Given the description of an element on the screen output the (x, y) to click on. 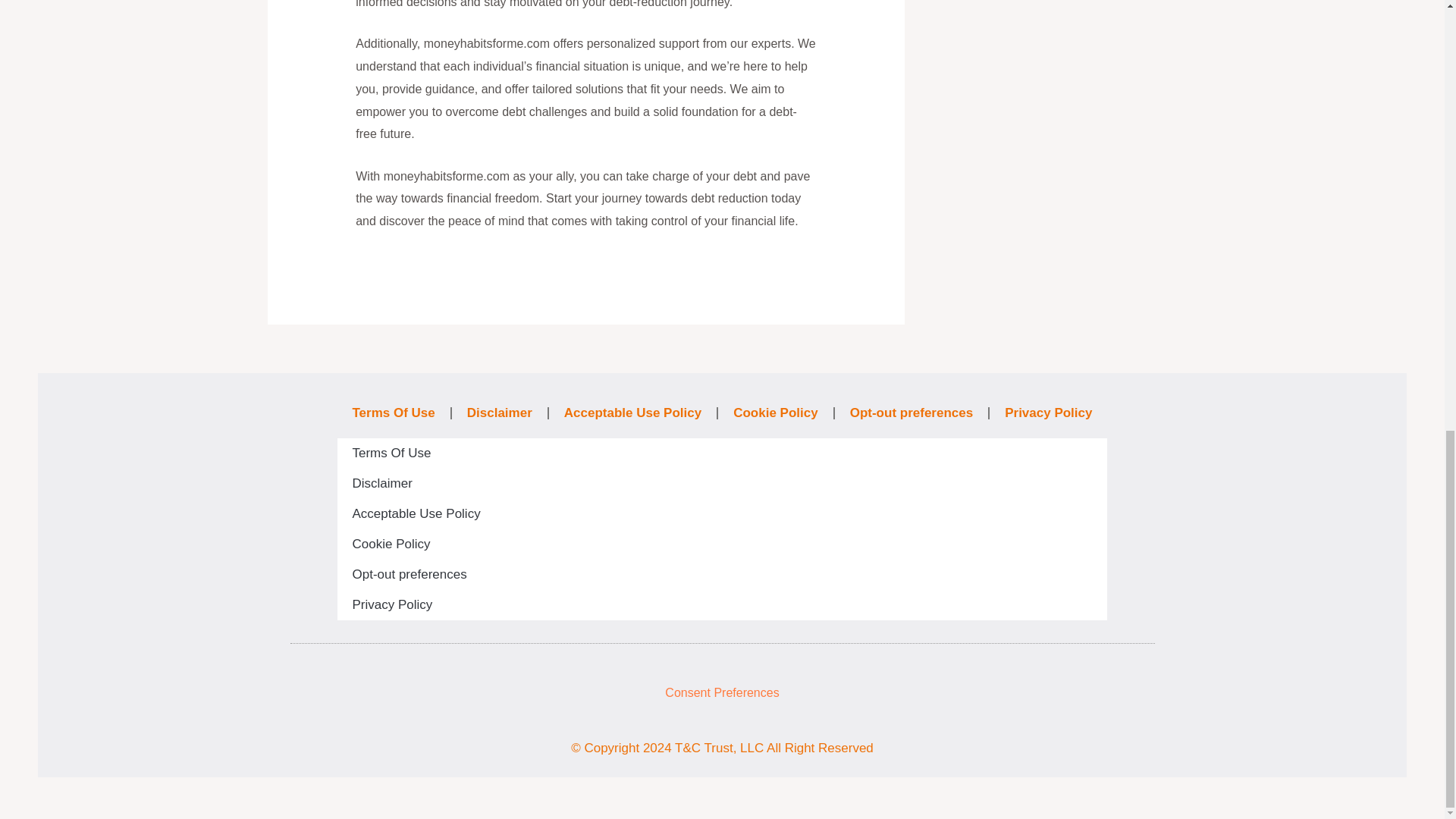
Privacy Policy (721, 604)
Privacy Policy (1048, 412)
Disclaimer (499, 412)
Consent Preferences (721, 692)
Opt-out preferences (721, 574)
Terms Of Use (721, 453)
Acceptable Use Policy (721, 513)
Opt-out preferences (911, 412)
Cookie Policy (774, 412)
Cookie Policy (721, 544)
